Given the description of an element on the screen output the (x, y) to click on. 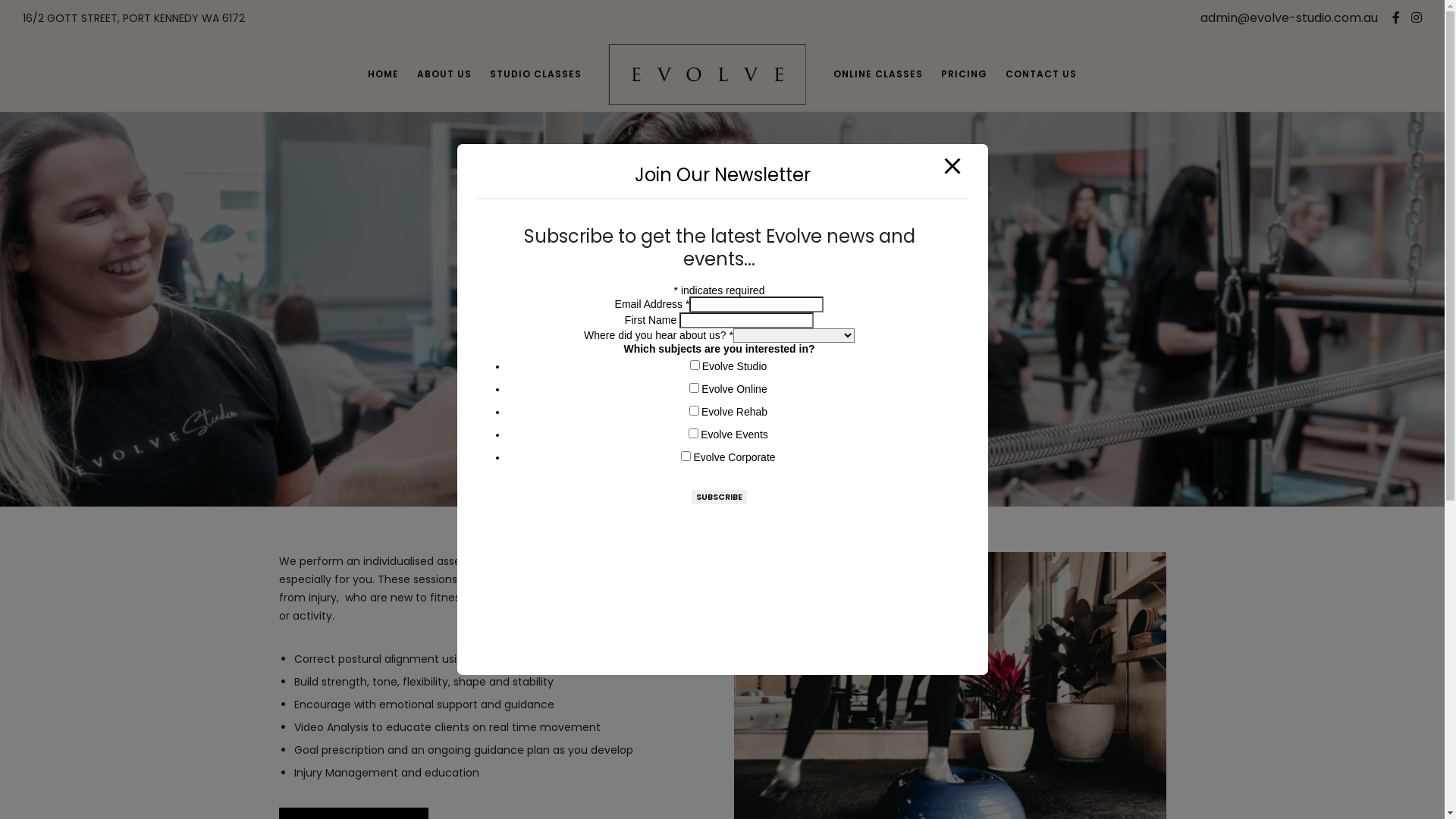
HOME Element type: text (382, 74)
STUDIO CLASSES Element type: text (535, 74)
admin@evolve-studio.com.au Element type: text (1288, 17)
ONLINE CLASSES Element type: text (877, 74)
PRICING Element type: text (963, 74)
ABOUT US Element type: text (443, 74)
CONTACT US Element type: text (1040, 74)
Subscribe Element type: text (718, 496)
